Given the description of an element on the screen output the (x, y) to click on. 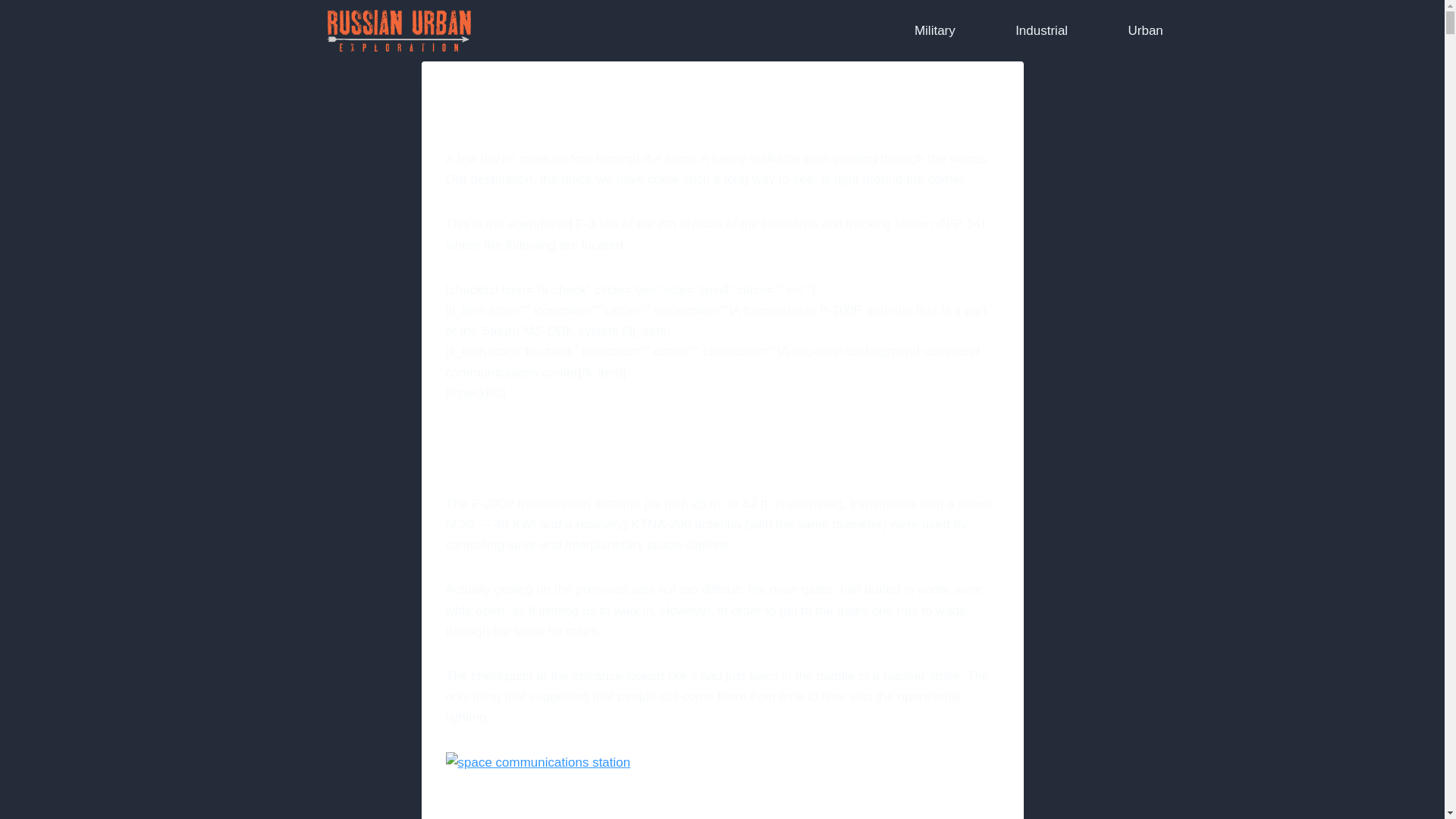
Industrial (1041, 30)
Military (934, 30)
Urban (1145, 30)
